Given the description of an element on the screen output the (x, y) to click on. 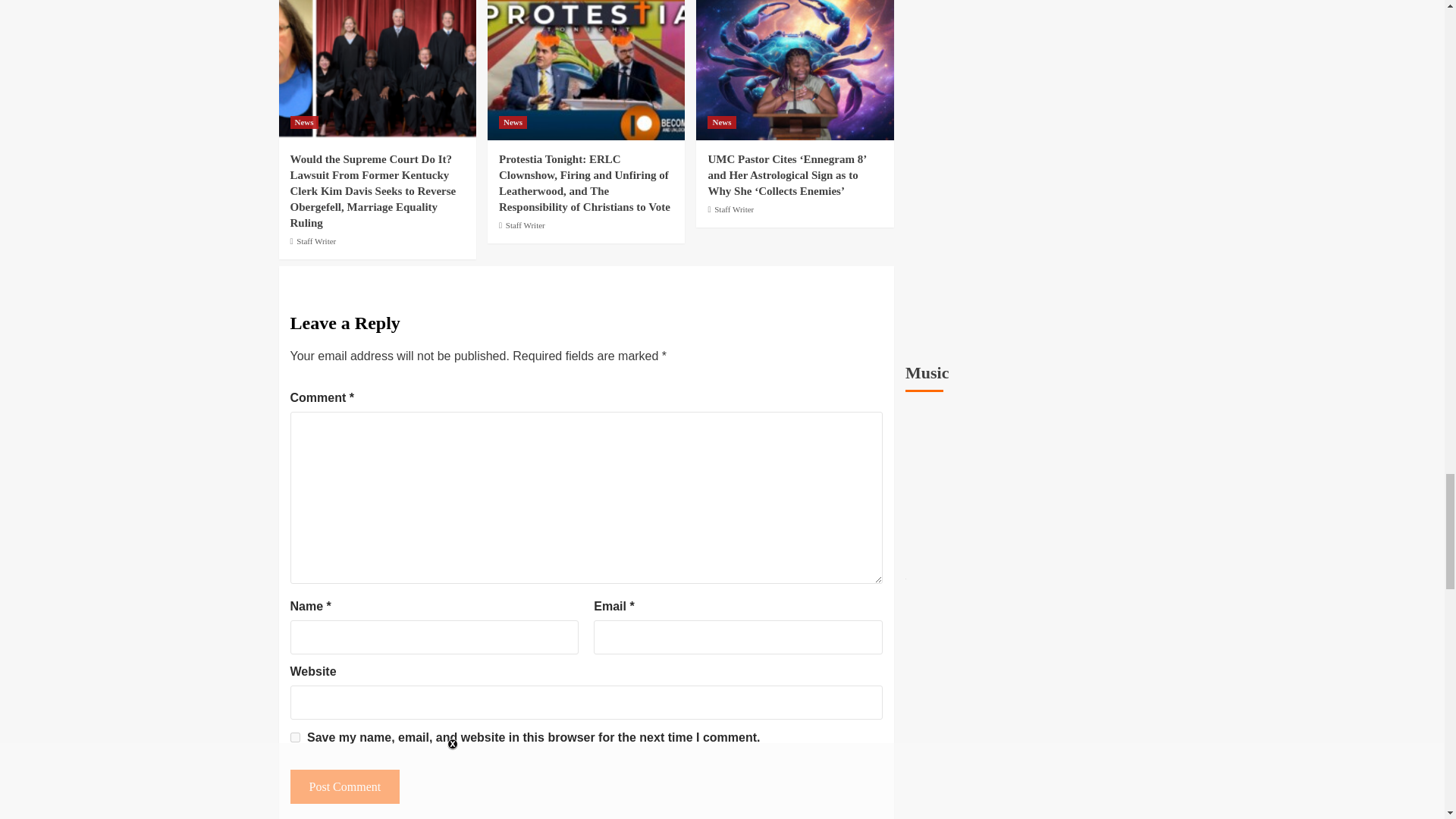
Post Comment (343, 786)
yes (294, 737)
